Given the description of an element on the screen output the (x, y) to click on. 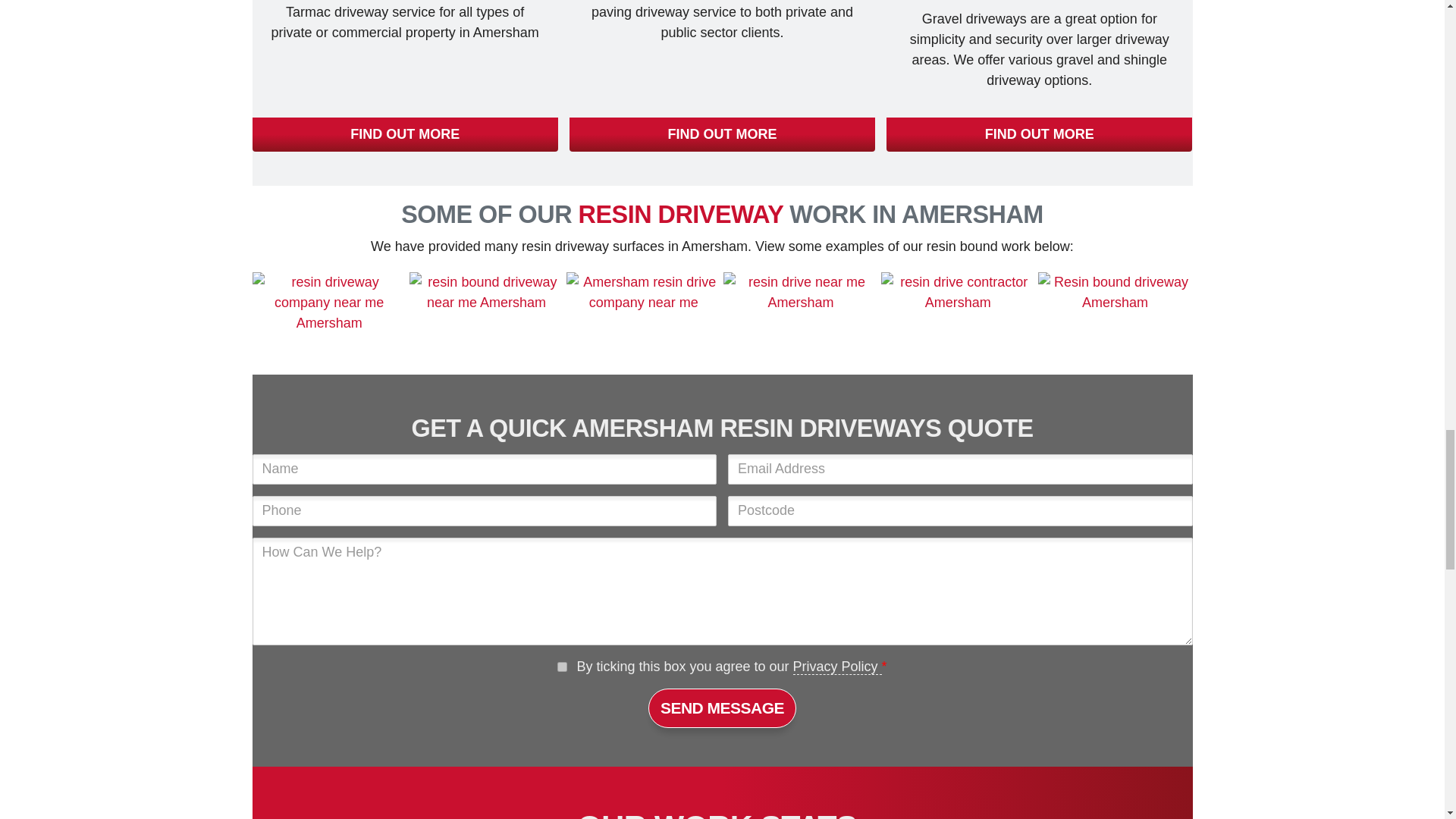
FIND OUT MORE (722, 134)
FIND OUT MORE (404, 134)
Send Message (721, 708)
Send Message (721, 708)
Privacy Policy (837, 666)
1 (562, 666)
FIND OUT MORE (1039, 134)
